Given the description of an element on the screen output the (x, y) to click on. 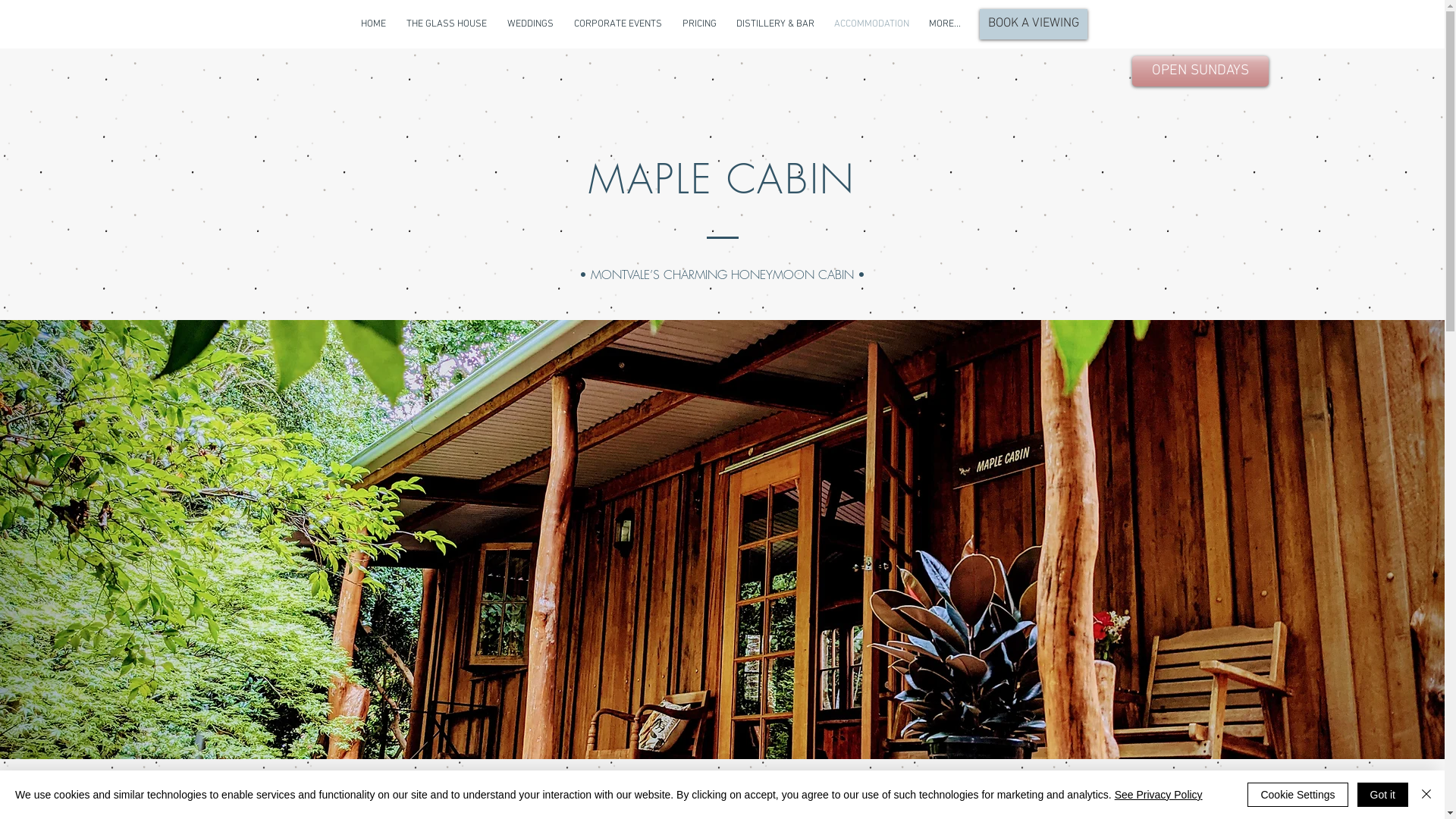
OPEN SUNDAYS Element type: text (1200, 71)
Got it Element type: text (1382, 794)
HOME Element type: text (372, 24)
THE GLASS HOUSE Element type: text (445, 24)
PRICING Element type: text (698, 24)
CORPORATE EVENTS Element type: text (618, 24)
WEDDINGS Element type: text (530, 24)
ACCOMMODATION Element type: text (870, 24)
DISTILLERY & BAR Element type: text (775, 24)
BOOK A VIEWING Element type: text (1033, 24)
Cookie Settings Element type: text (1297, 794)
See Privacy Policy Element type: text (1158, 794)
